Given the description of an element on the screen output the (x, y) to click on. 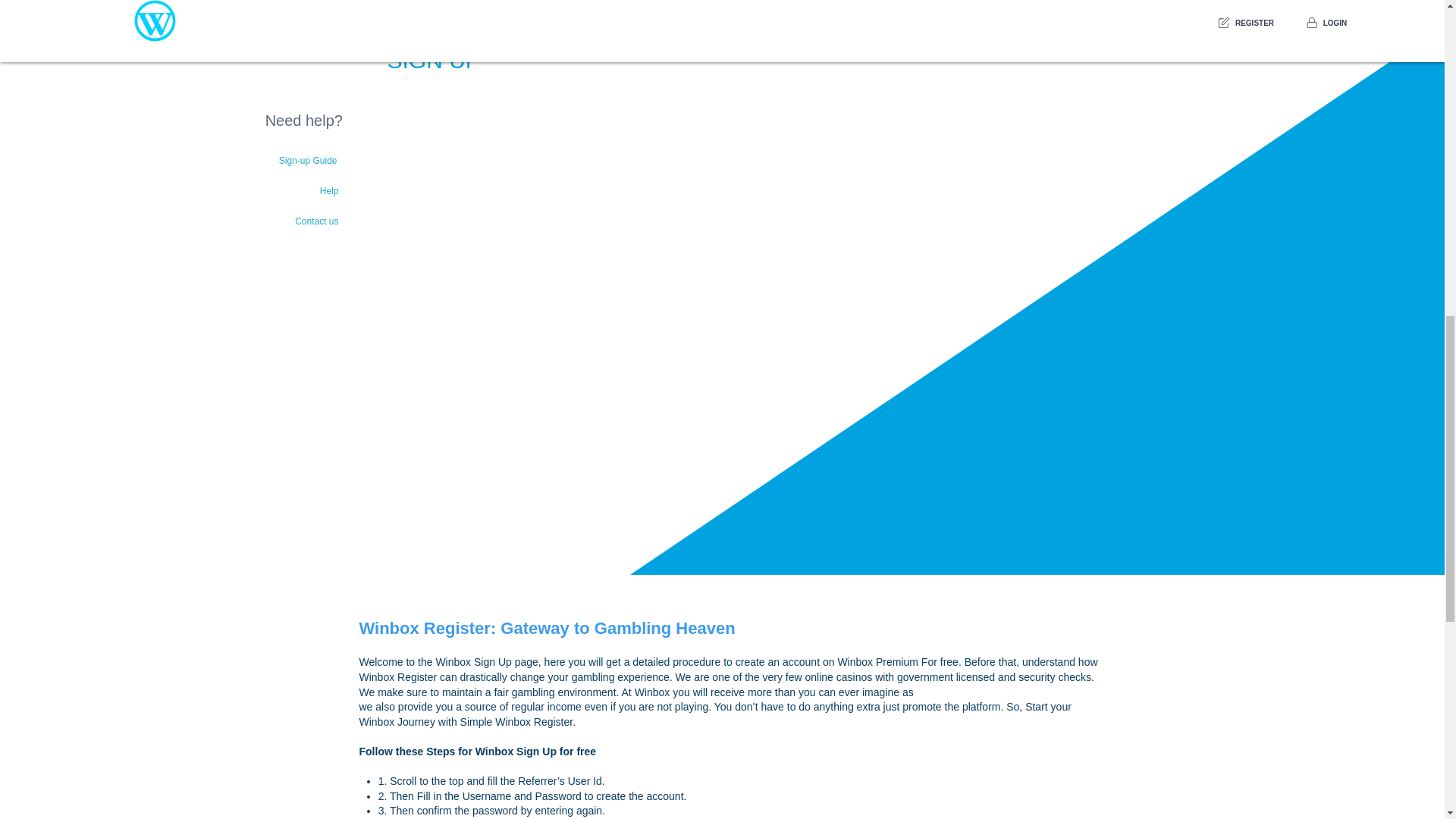
Contact us (277, 220)
Sign-up Guide (276, 159)
Help (277, 190)
